Given the description of an element on the screen output the (x, y) to click on. 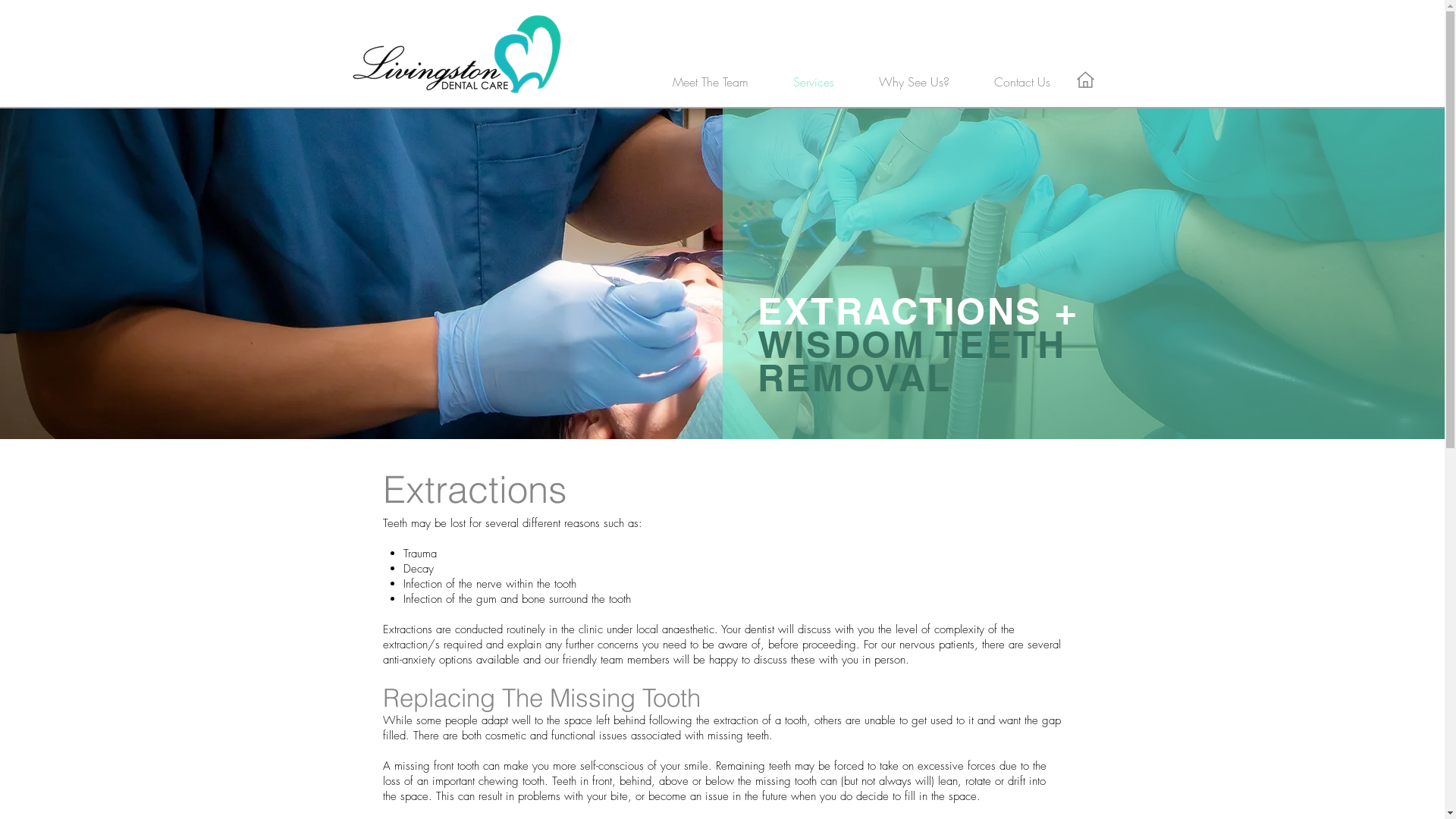
Livingstone Dental Care Clinic Logo Element type: hover (455, 53)
Why See Us? Element type: text (914, 81)
Meet The Team Element type: text (709, 81)
Contact Us Element type: text (1022, 81)
Embedded Content Element type: hover (457, 11)
Services Element type: text (813, 81)
